Given the description of an element on the screen output the (x, y) to click on. 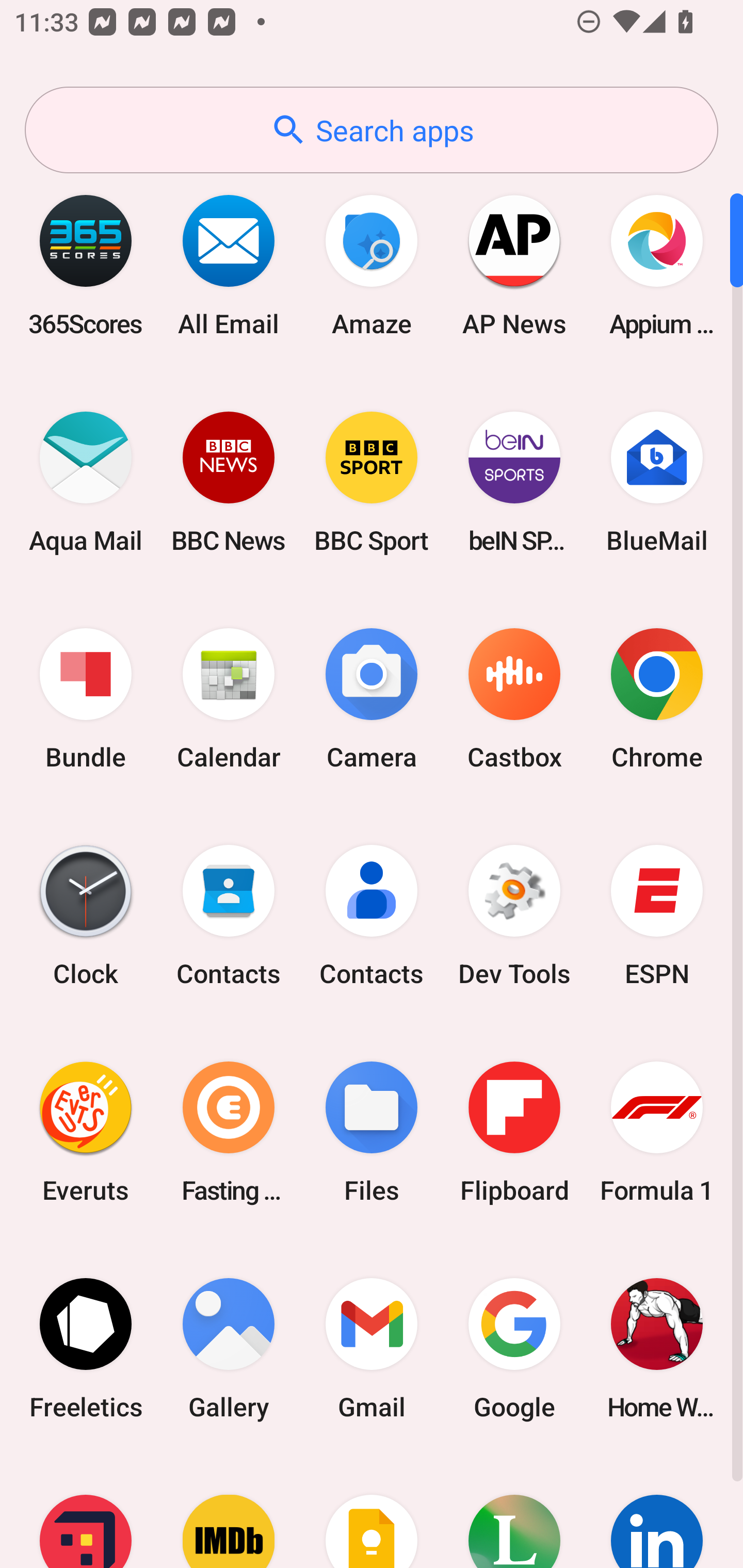
  Search apps (371, 130)
365Scores (85, 264)
All Email (228, 264)
Amaze (371, 264)
AP News (514, 264)
Appium Settings (656, 264)
Aqua Mail (85, 482)
BBC News (228, 482)
BBC Sport (371, 482)
beIN SPORTS (514, 482)
BlueMail (656, 482)
Bundle (85, 699)
Calendar (228, 699)
Camera (371, 699)
Castbox (514, 699)
Chrome (656, 699)
Clock (85, 915)
Contacts (228, 915)
Contacts (371, 915)
Dev Tools (514, 915)
ESPN (656, 915)
Everuts (85, 1131)
Fasting Coach (228, 1131)
Files (371, 1131)
Flipboard (514, 1131)
Formula 1 (656, 1131)
Freeletics (85, 1348)
Gallery (228, 1348)
Gmail (371, 1348)
Google (514, 1348)
Home Workout (656, 1348)
Hotels.com (85, 1512)
IMDb (228, 1512)
Keep Notes (371, 1512)
Lifesum (514, 1512)
LinkedIn (656, 1512)
